Given the description of an element on the screen output the (x, y) to click on. 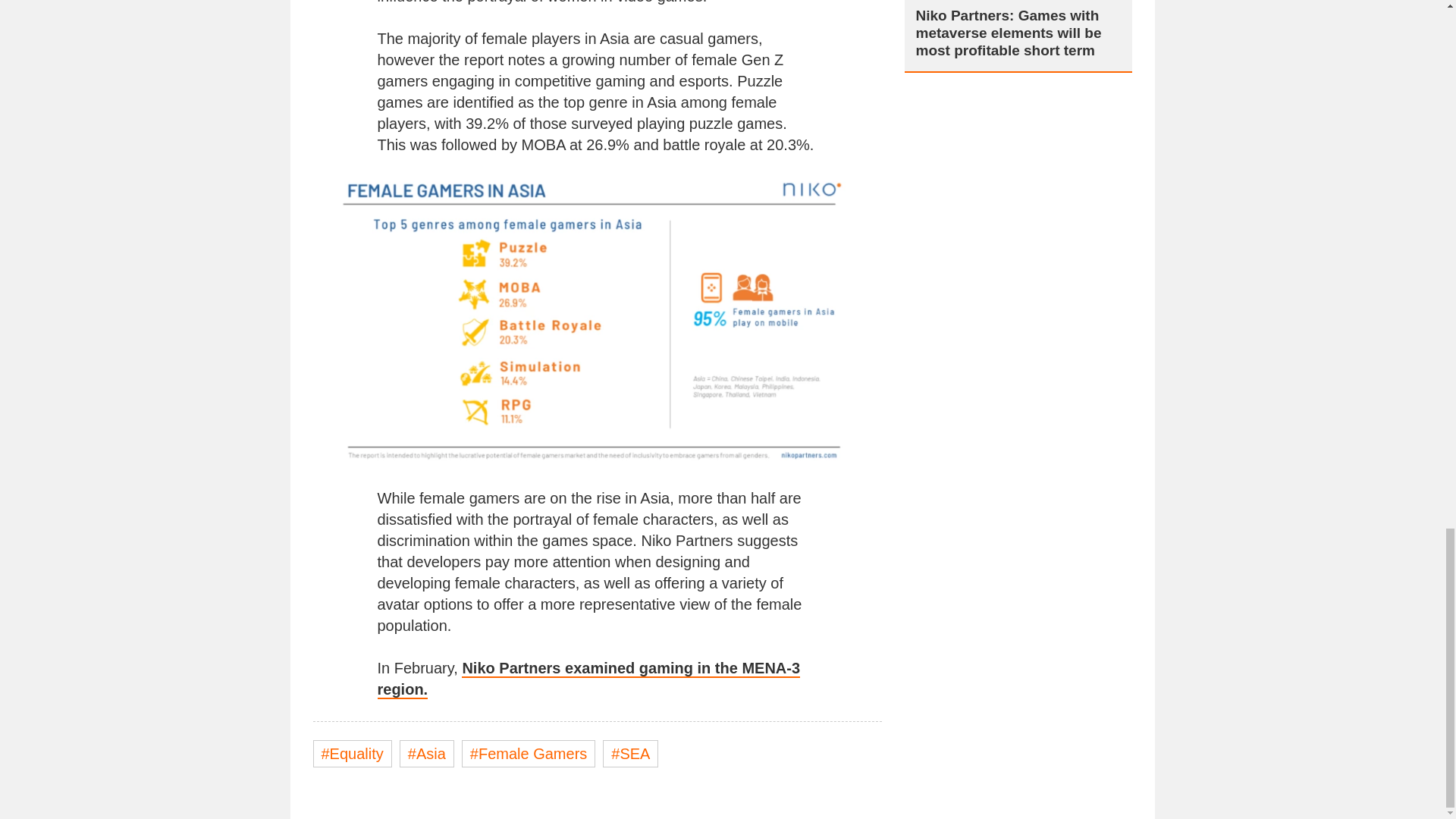
Niko Partners examined gaming in the MENA-3 region. (588, 679)
